Given the description of an element on the screen output the (x, y) to click on. 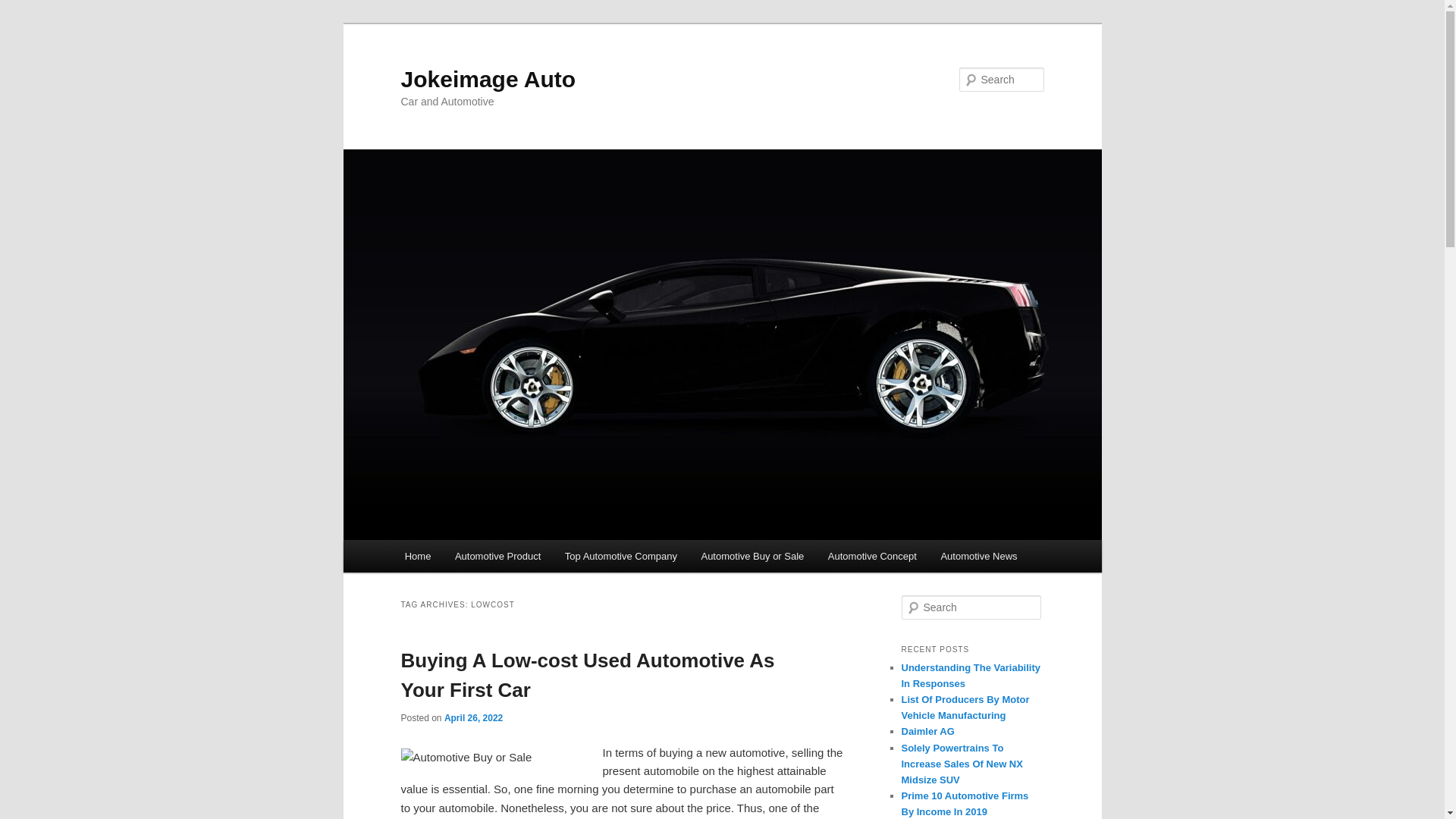
Solely Powertrains To Increase Sales Of New NX Midsize SUV (961, 763)
April 26, 2022 (473, 717)
Search (21, 11)
Automotive Product (497, 555)
Top Automotive Company (620, 555)
Daimler AG (927, 731)
Prime 10 Automotive Firms By Income In 2019 (964, 803)
Buying A Low-cost Used Automotive As Your First Car (587, 675)
Home (417, 555)
Understanding The Variability In Responses (970, 675)
Automotive Buy or Sale (751, 555)
Automotive News (978, 555)
Jokeimage Auto (487, 78)
List Of Producers By Motor Vehicle Manufacturing (965, 707)
